Given the description of an element on the screen output the (x, y) to click on. 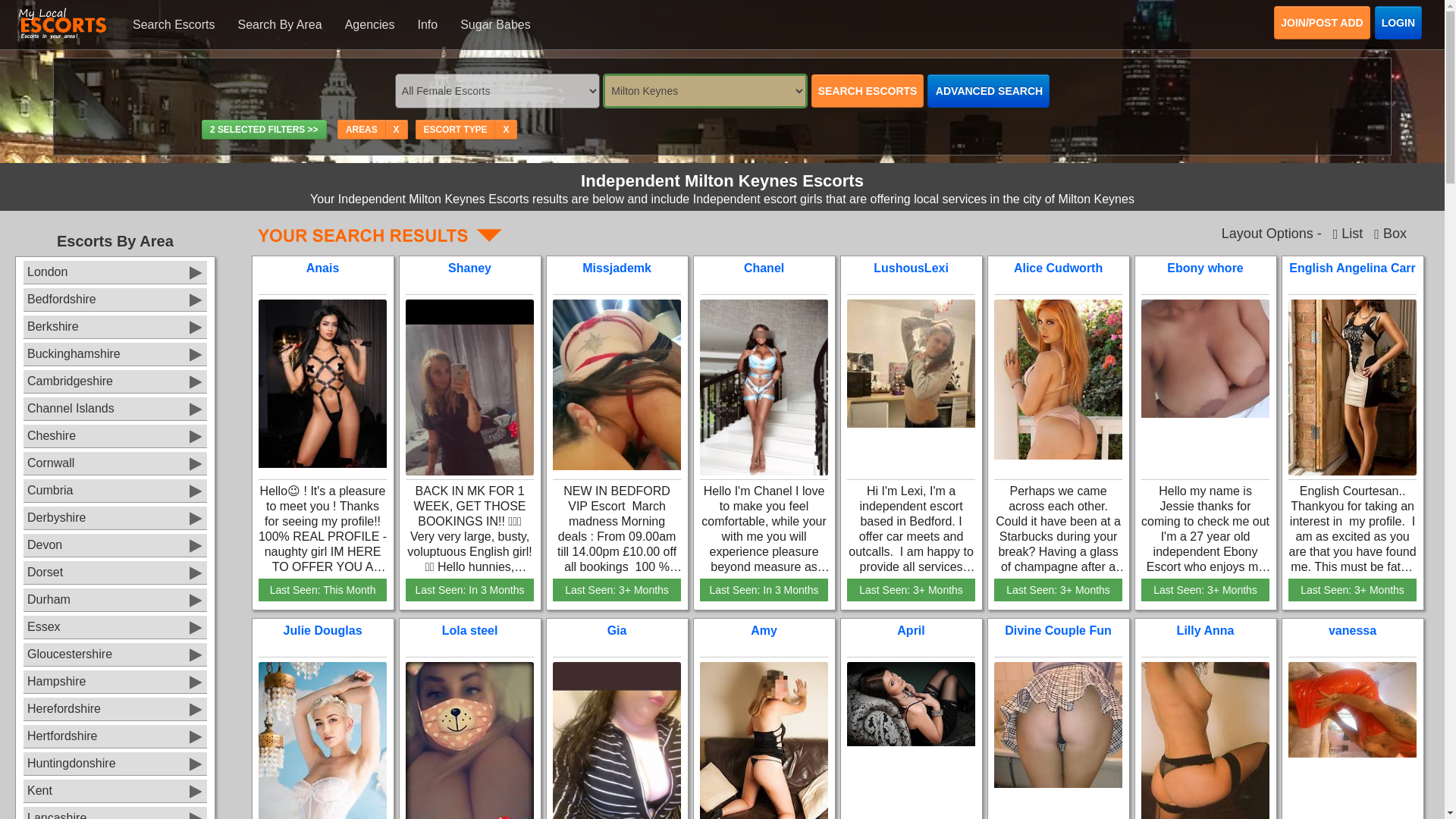
London (115, 271)
Sugar Babes (494, 24)
ADVANCED SEARCH (988, 90)
Info (427, 24)
Independent Milton Keynes Escorts (379, 235)
Search Escorts (172, 24)
Agencies (369, 24)
X (396, 129)
LOGIN (1398, 22)
AREAS (361, 129)
ESCORT TYPE (455, 129)
Click to Remove Filter (395, 129)
X (505, 129)
Click to Remove Filter (505, 129)
SEARCH ESCORTS (867, 90)
